Given the description of an element on the screen output the (x, y) to click on. 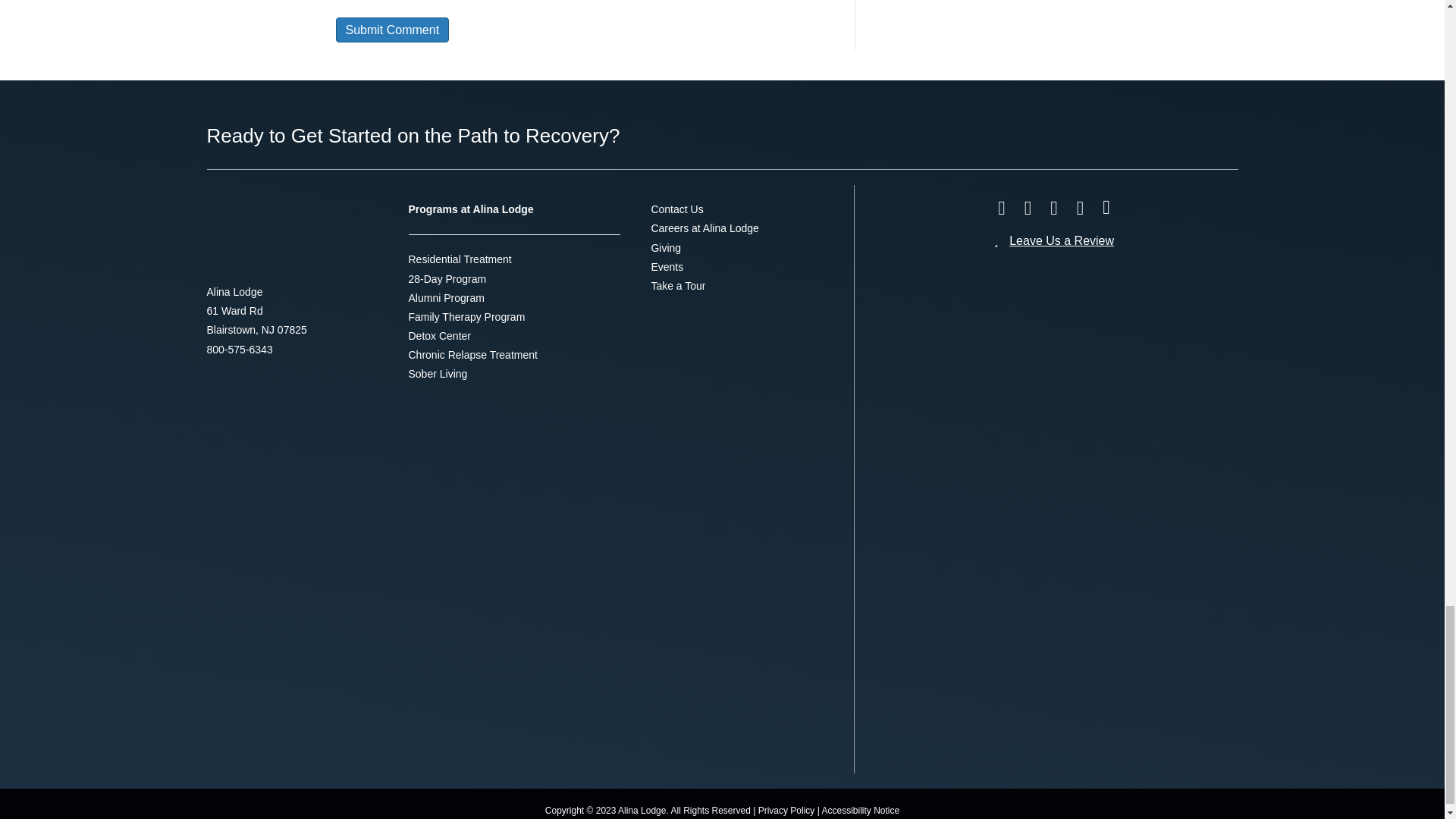
Verify LegitScript Approval (1127, 557)
Submit Comment (391, 29)
Alina-Lodge-500px (266, 233)
